Given the description of an element on the screen output the (x, y) to click on. 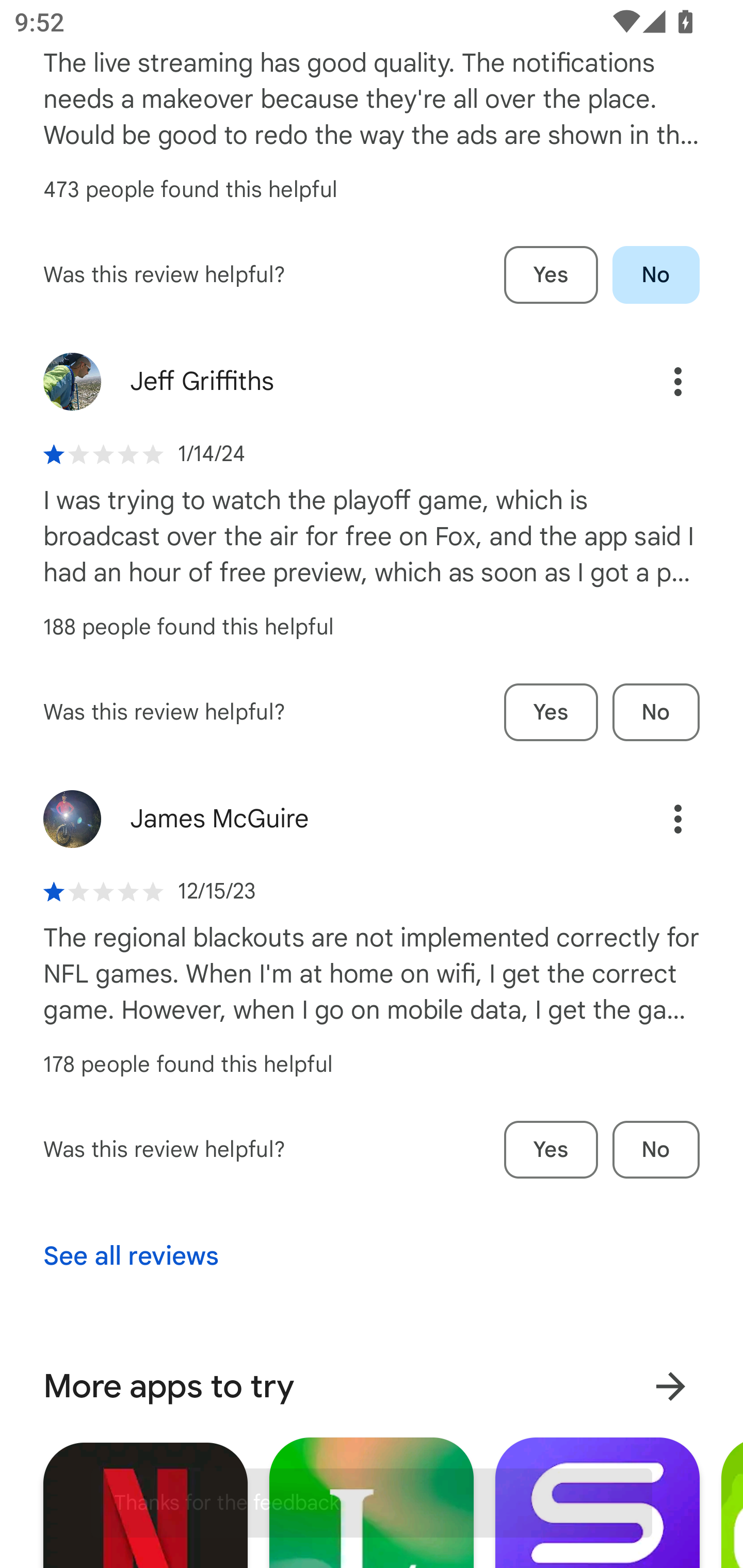
Yes (550, 275)
No (655, 275)
Options (655, 381)
Yes (550, 712)
No (655, 712)
Options (655, 819)
Yes (550, 1150)
No (655, 1150)
See all reviews (130, 1256)
More apps to try More results for More apps to try (371, 1385)
More results for More apps to try (670, 1386)
